Given the description of an element on the screen output the (x, y) to click on. 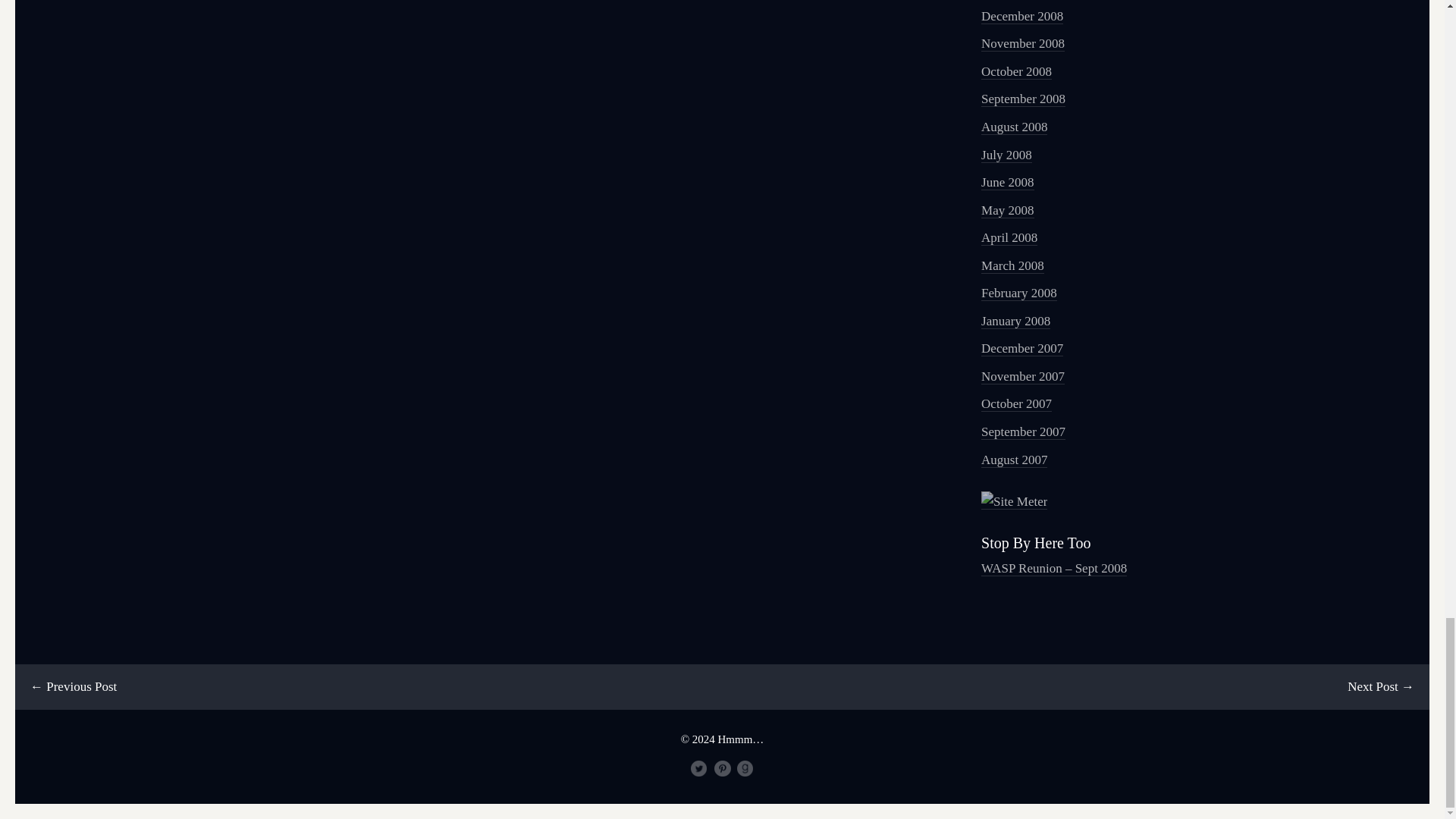
Pinterest (722, 768)
Good Reads (745, 768)
Historic fly-in reunion of WASPs in Sweetwater, Texas (1053, 568)
Twitter (698, 768)
